Given the description of an element on the screen output the (x, y) to click on. 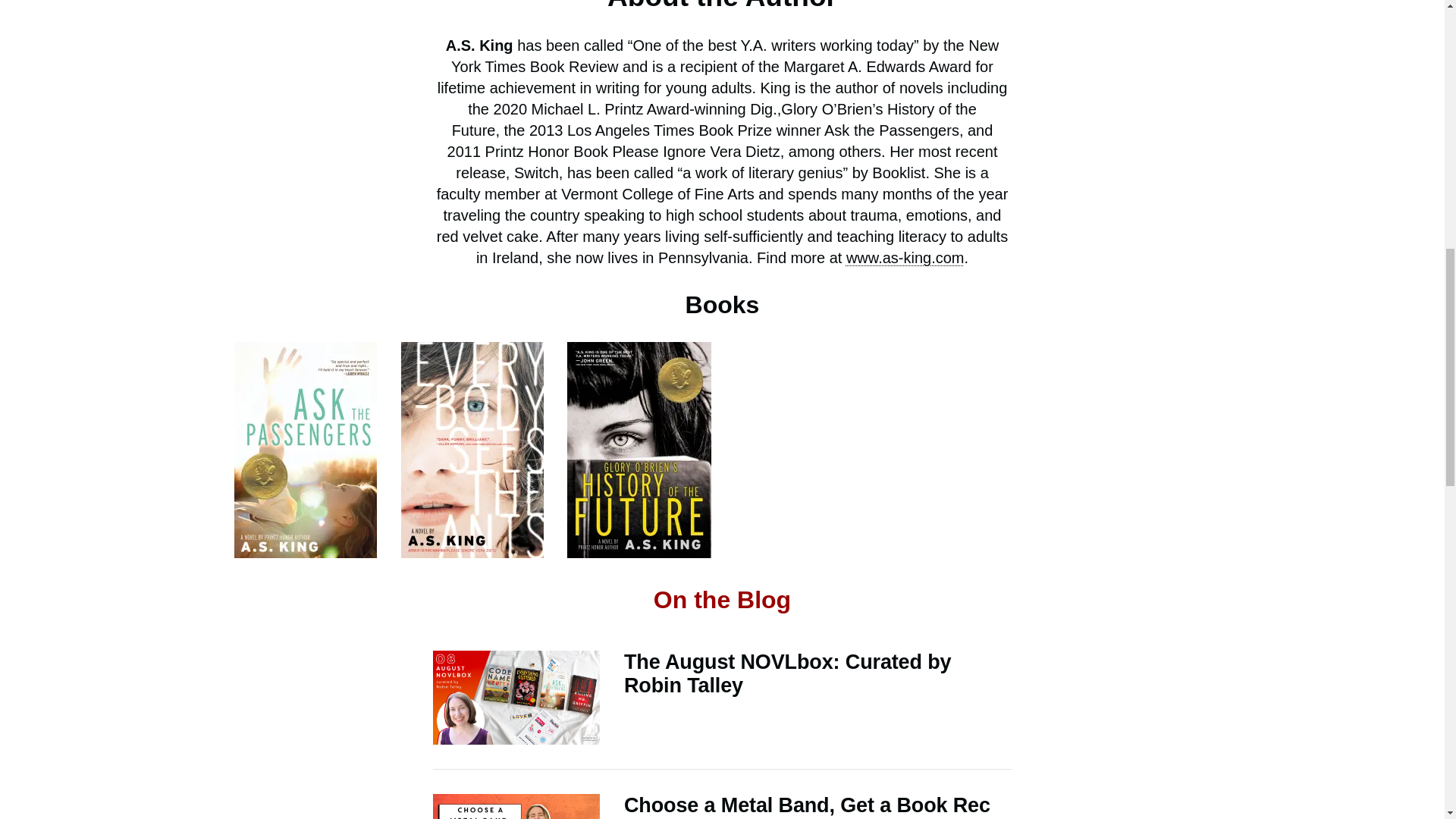
www.as-king.com (904, 257)
The August NOVLbox: Curated by Robin Talley (721, 697)
Choose a Metal Band, Get a Book Rec (721, 806)
